Given the description of an element on the screen output the (x, y) to click on. 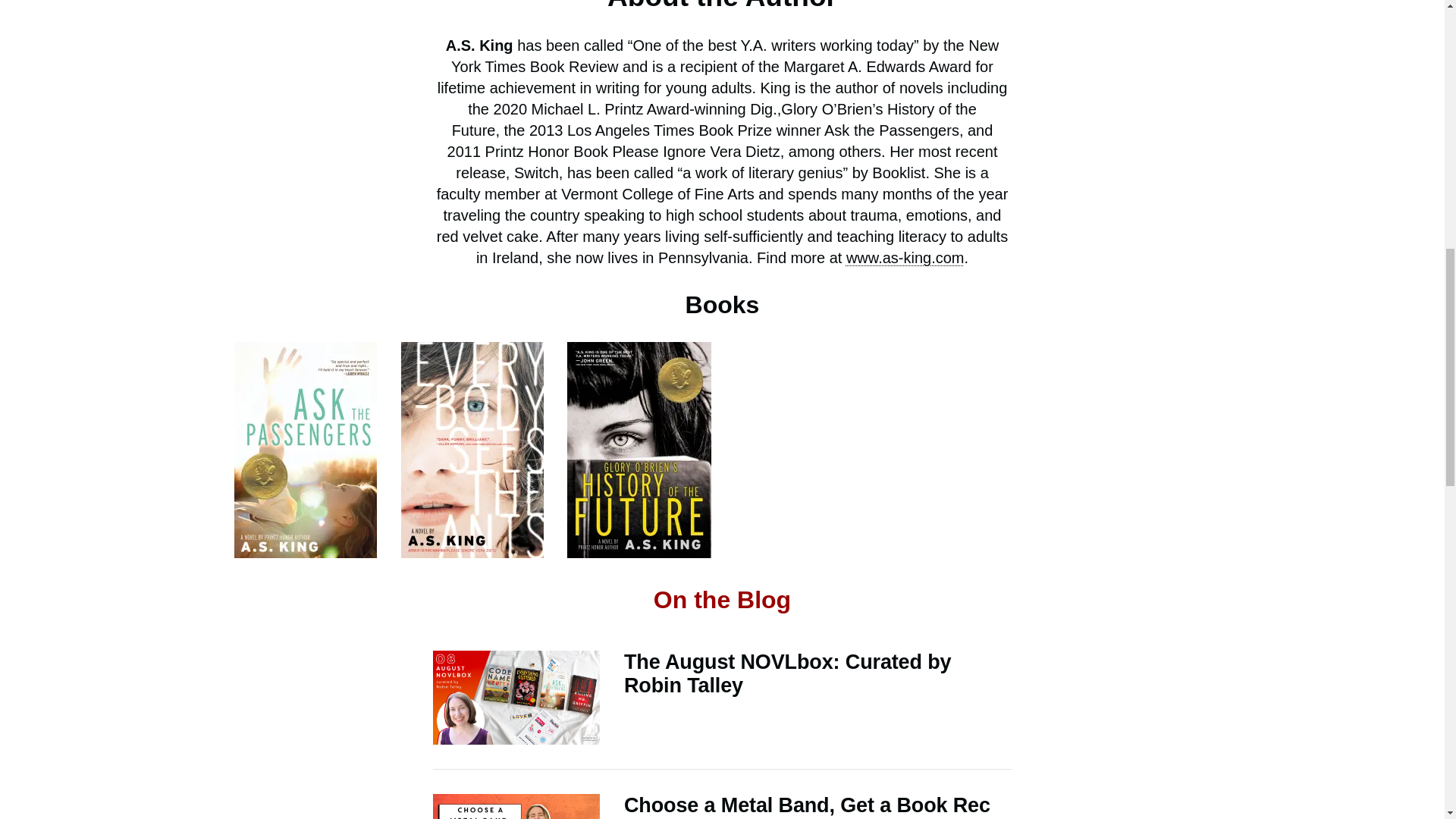
www.as-king.com (904, 257)
The August NOVLbox: Curated by Robin Talley (721, 697)
Choose a Metal Band, Get a Book Rec (721, 806)
